Given the description of an element on the screen output the (x, y) to click on. 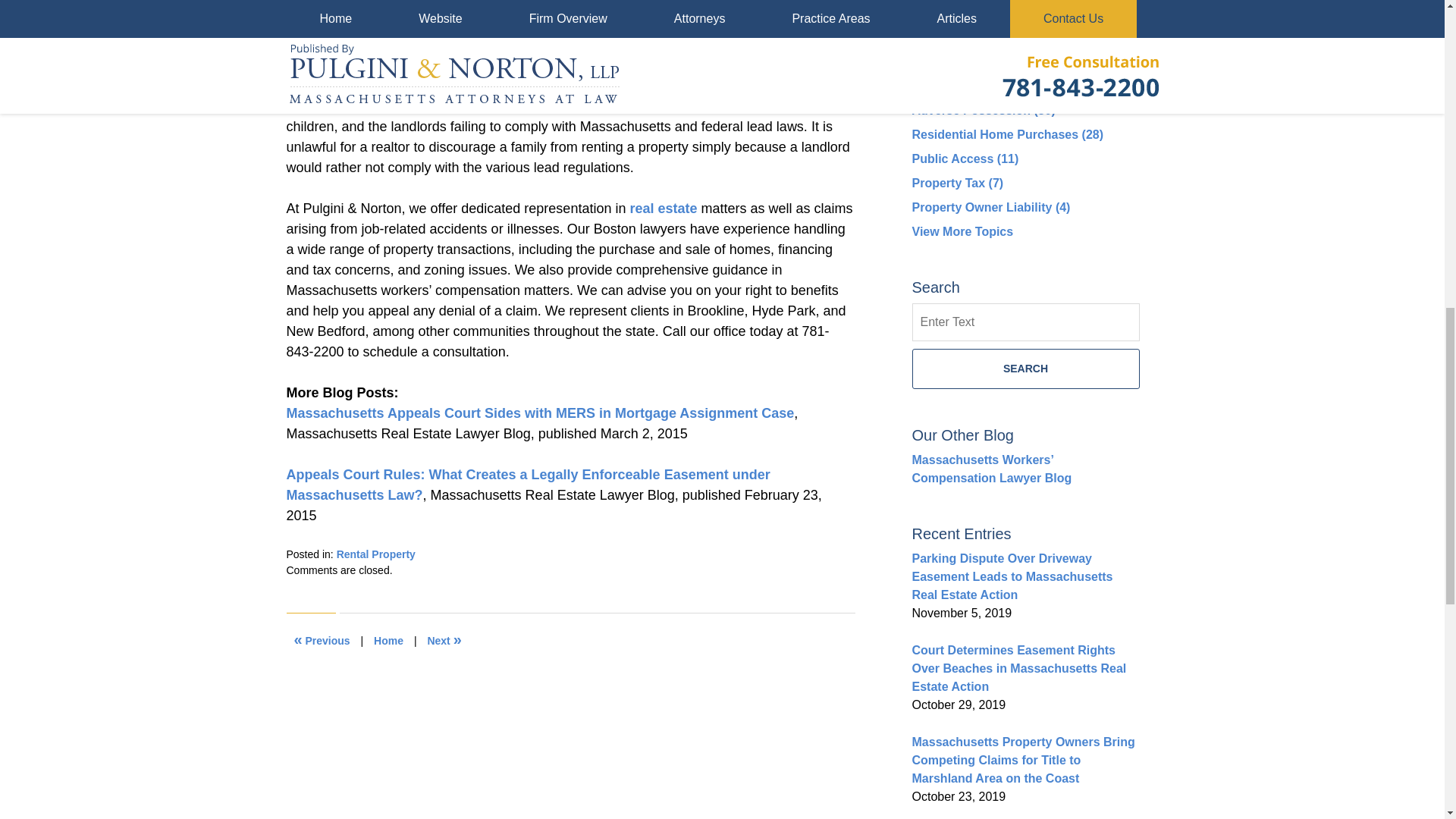
Rental Property (375, 553)
real estate (662, 208)
View all posts in Rental Property (375, 553)
Home (388, 640)
